Given the description of an element on the screen output the (x, y) to click on. 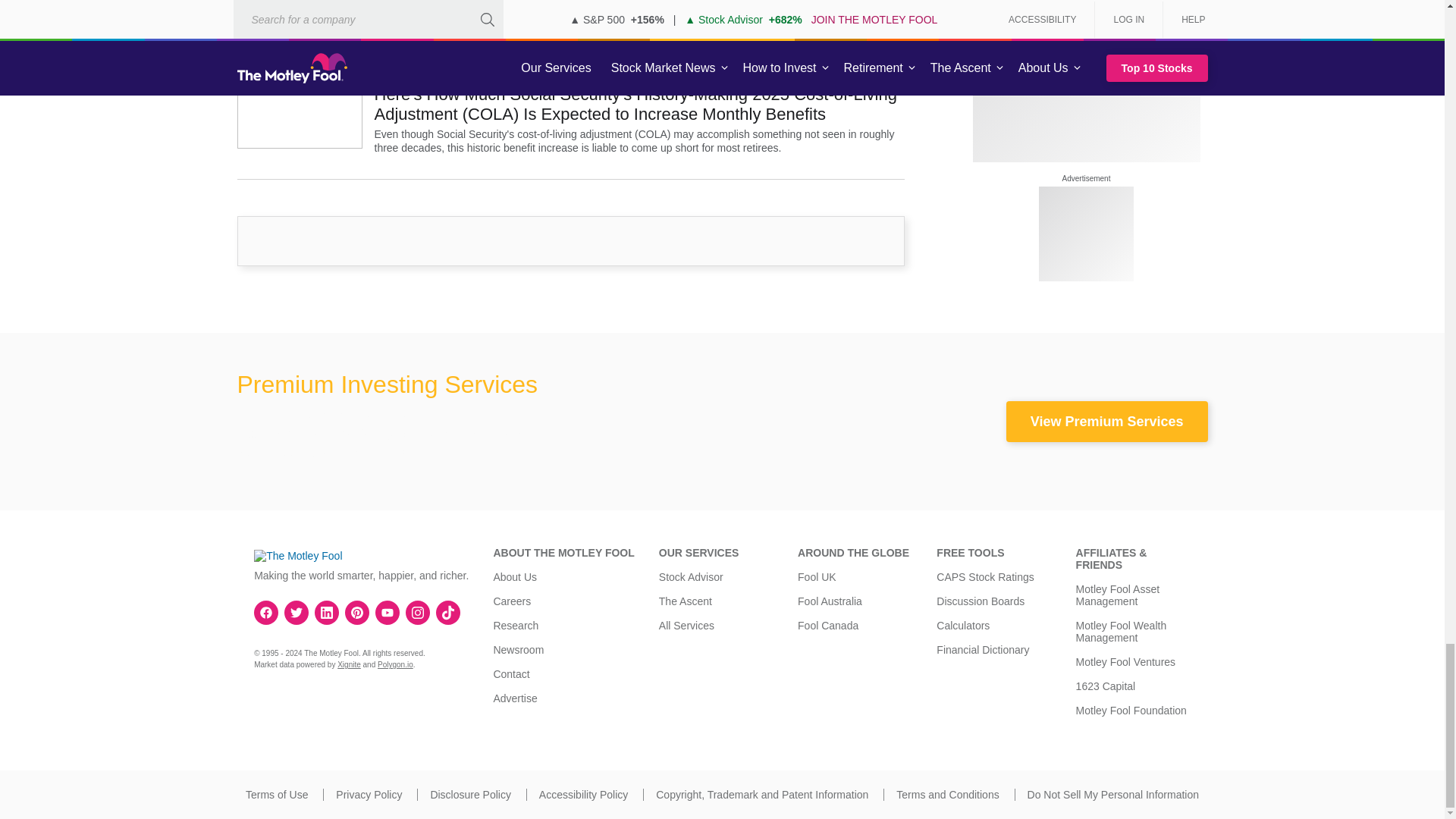
Copyright, Trademark and Patent Information (761, 794)
Terms of Use (276, 794)
Privacy Policy (368, 794)
Disclosure Policy (470, 794)
Accessibility Policy (582, 794)
Terms and Conditions (947, 794)
Do Not Sell My Personal Information. (1112, 794)
